Given the description of an element on the screen output the (x, y) to click on. 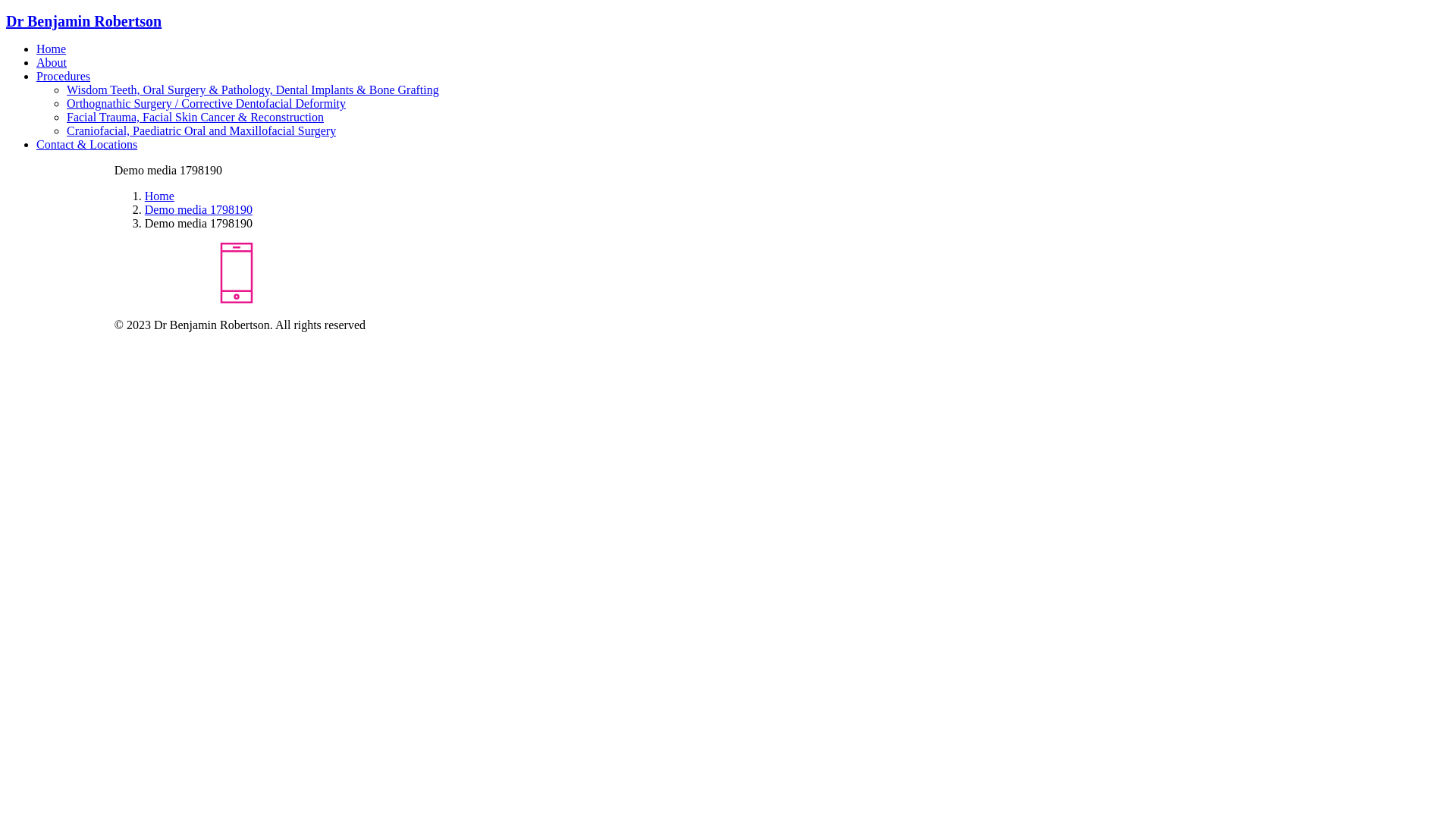
Demo media 1798190 Element type: text (198, 209)
Procedures Element type: text (63, 75)
Facial Trauma, Facial Skin Cancer & Reconstruction Element type: text (194, 116)
Home Element type: text (50, 48)
Craniofacial, Paediatric Oral and Maxillofacial Surgery Element type: text (200, 130)
Contact & Locations Element type: text (86, 144)
Home Element type: text (159, 195)
Orthognathic Surgery / Corrective Dentofacial Deformity Element type: text (205, 103)
Dr Benjamin Robertson Element type: text (727, 21)
About Element type: text (51, 62)
